Given the description of an element on the screen output the (x, y) to click on. 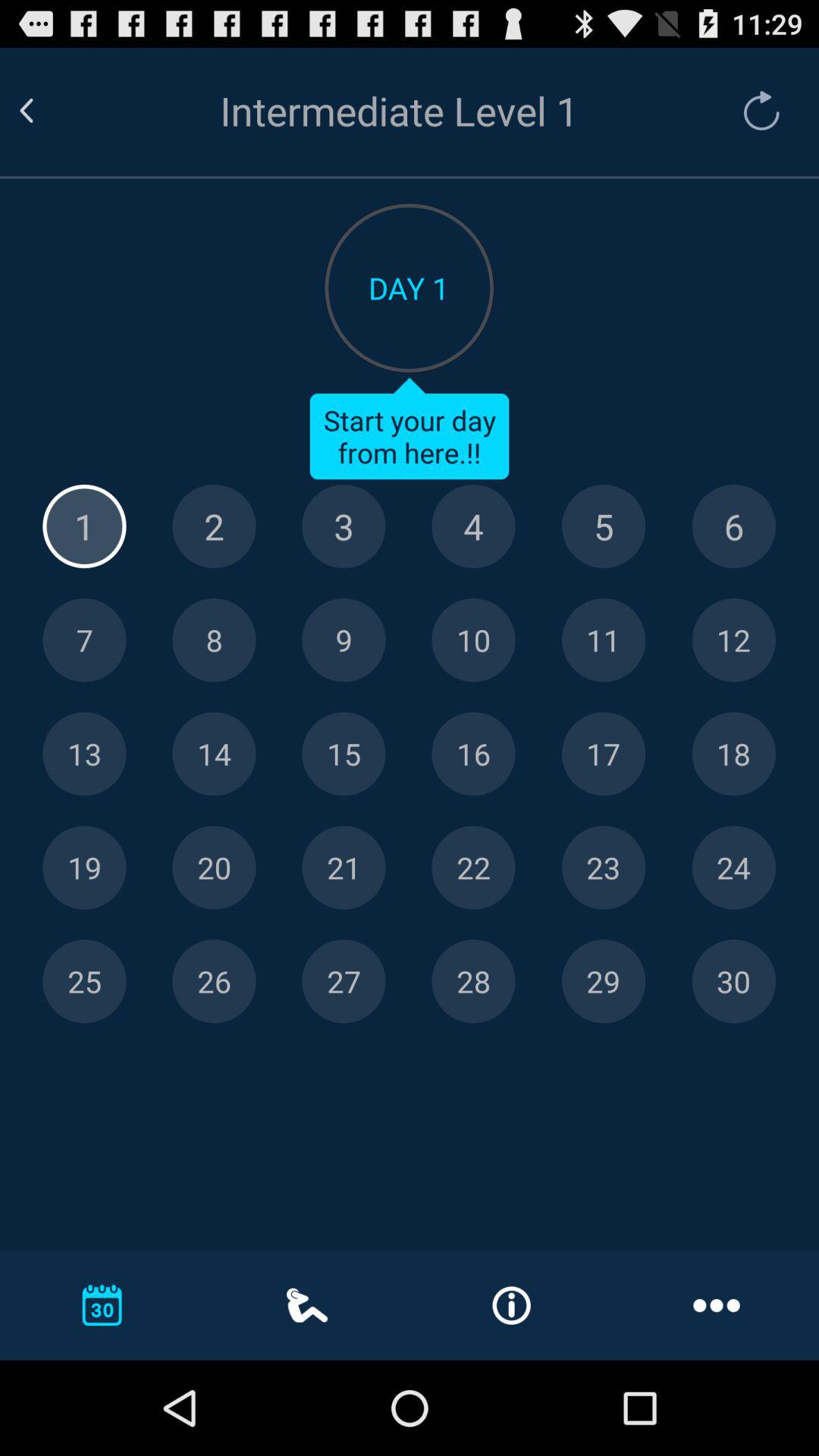
add reminder (733, 639)
